Given the description of an element on the screen output the (x, y) to click on. 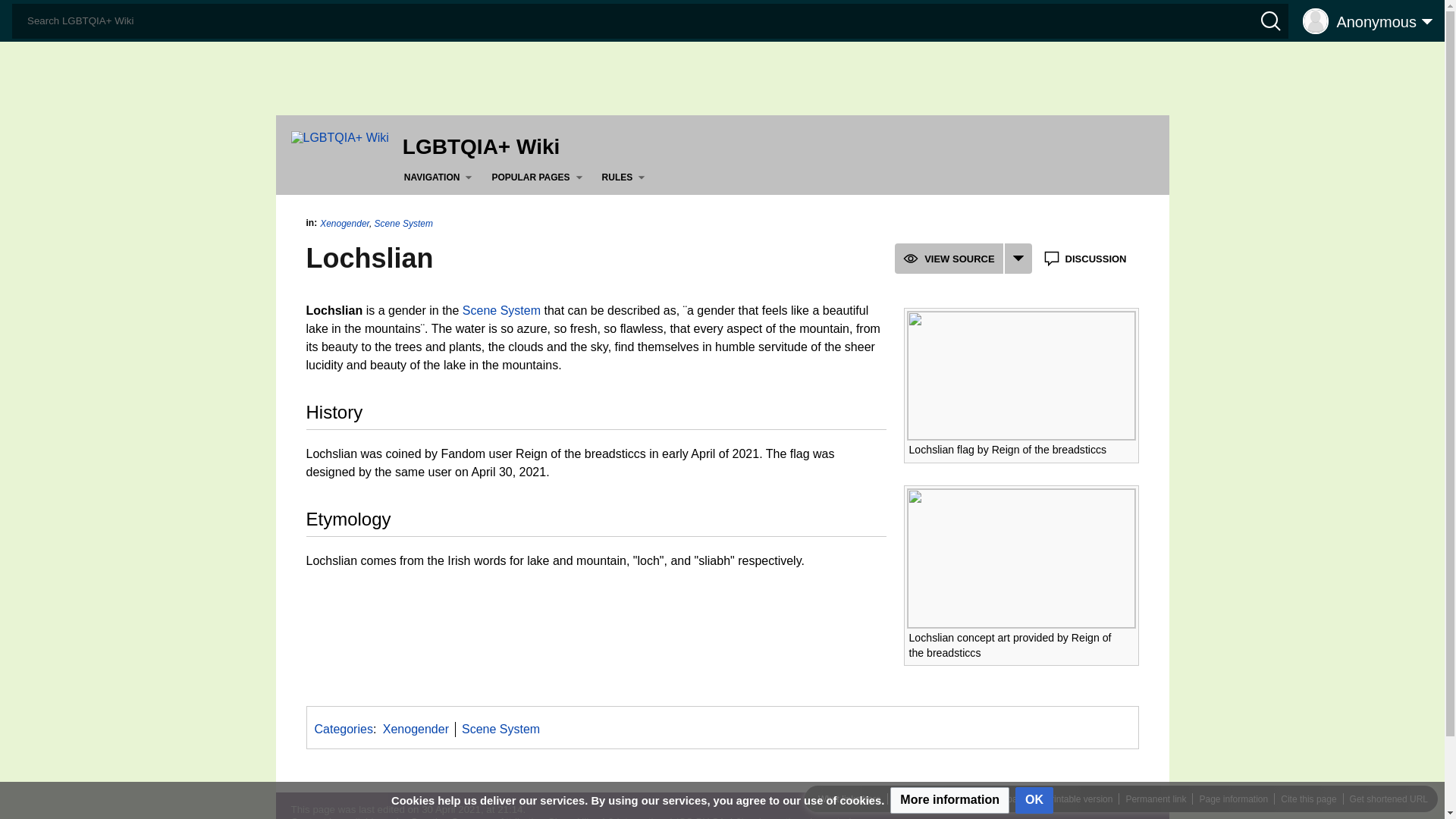
Go (16, 13)
POPULAR PAGES (540, 177)
NAVIGATION (441, 177)
Category:Xenogender (415, 728)
Visit the main page (339, 136)
Special:Categories (343, 728)
RULES (626, 177)
Category:Scene System (500, 728)
Scene System (501, 309)
